Given the description of an element on the screen output the (x, y) to click on. 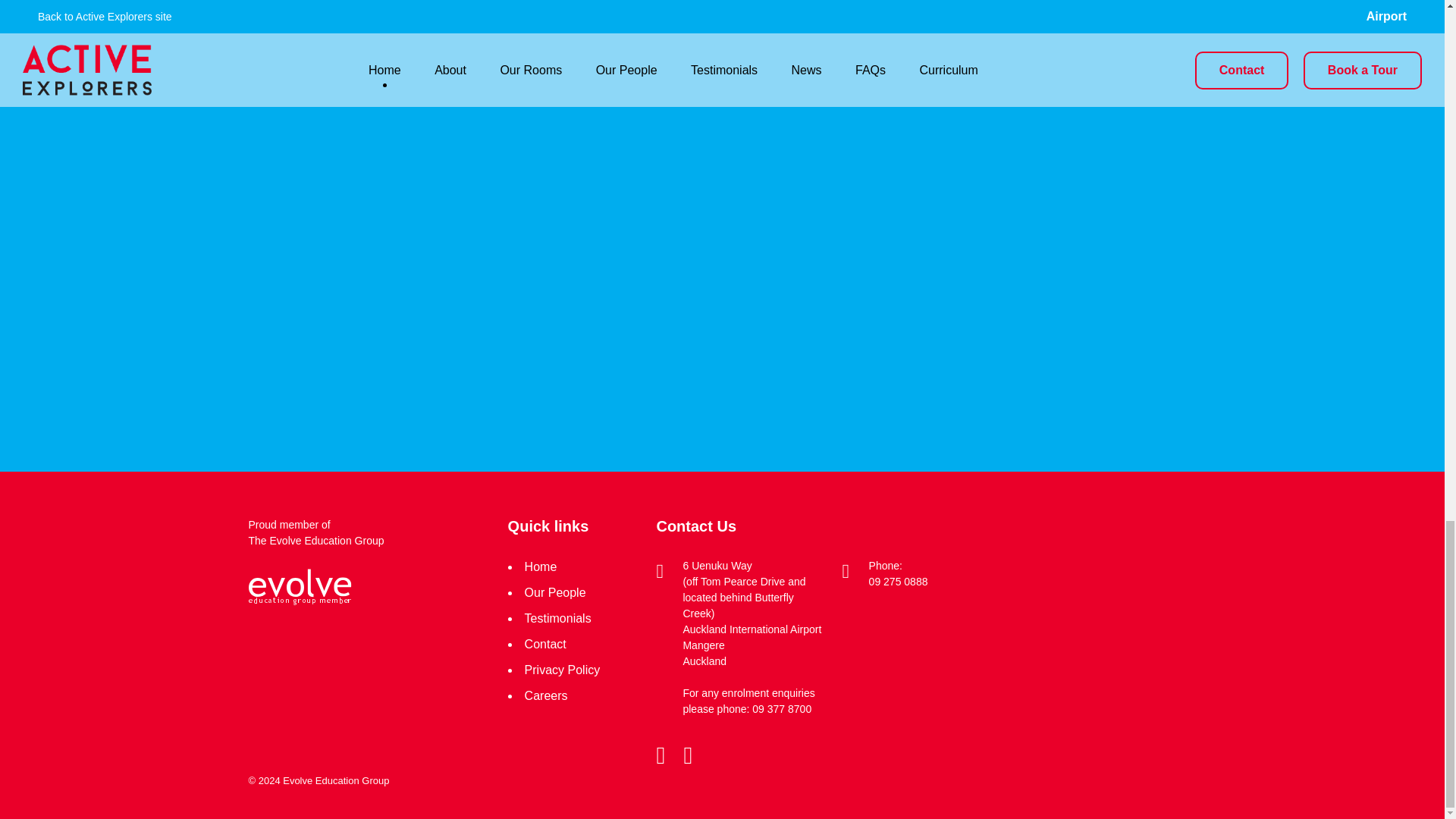
Transition to school (323, 9)
Careers (545, 695)
Our People (555, 592)
Testimonials (557, 617)
Nursery (475, 9)
Extended Hours (627, 9)
Home (540, 566)
Privacy Policy (561, 669)
09 275 0888 (898, 581)
Contact (545, 644)
